Given the description of an element on the screen output the (x, y) to click on. 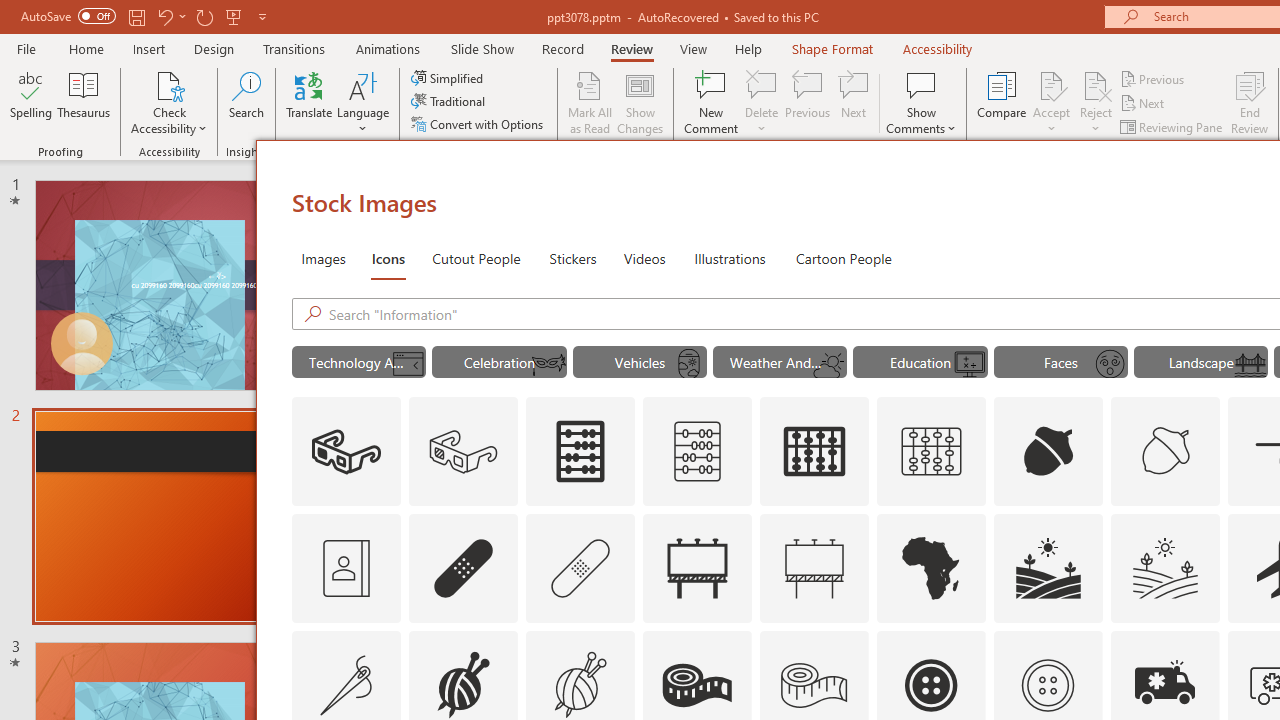
"Faces" Icons. (1060, 362)
AutomationID: Icons_DizzyFace_M (1109, 364)
AutomationID: Icons_Acorn_M (1165, 452)
AutomationID: Icons_PlaneWindow_M (688, 364)
Images (322, 258)
AutomationID: Icons_CmdTerminal_RTL_M (408, 364)
AutomationID: Icons_Abacus1 (815, 452)
AutomationID: Icons_AdhesiveBandage_M (580, 568)
